Given the description of an element on the screen output the (x, y) to click on. 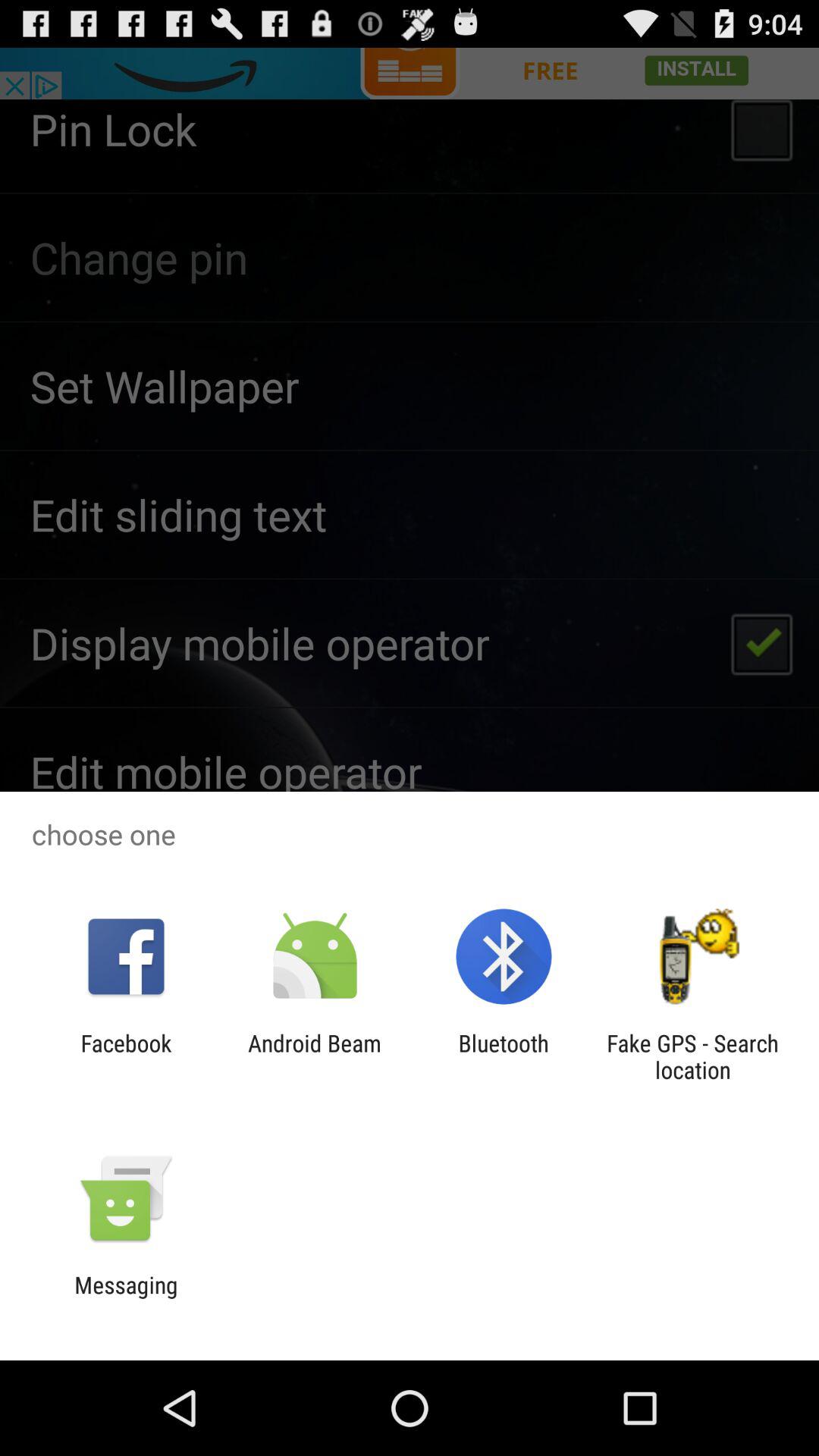
tap the app to the left of the android beam item (125, 1056)
